Given the description of an element on the screen output the (x, y) to click on. 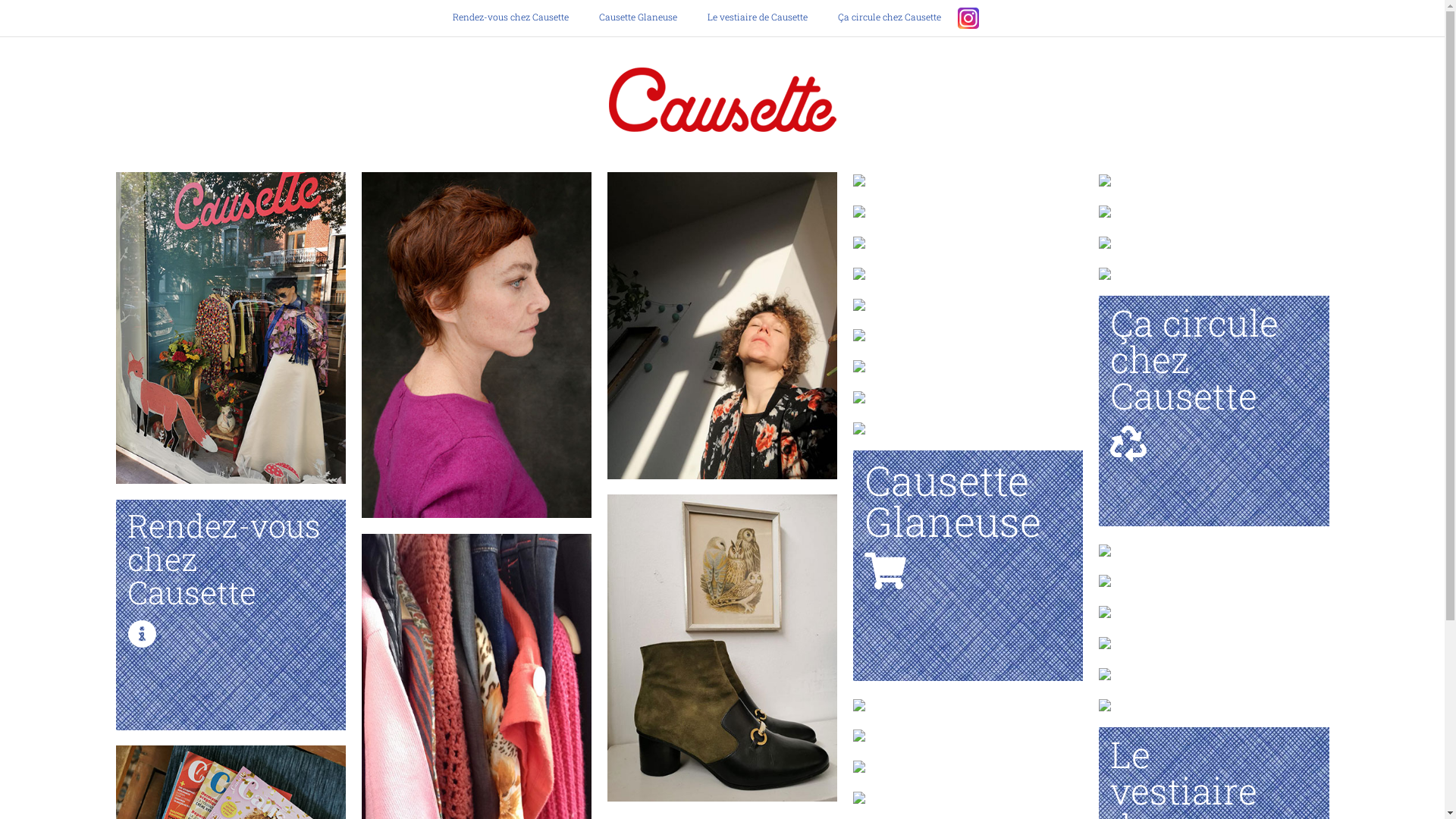
Rendez-vous
chez
Causette Element type: text (230, 574)
Le vestiaire de Causette Element type: text (756, 16)
Causette
Glaneuse Element type: text (968, 519)
Causette Glaneuse Element type: text (637, 16)
Rendez-vous chez Causette Element type: text (516, 16)
